Given the description of an element on the screen output the (x, y) to click on. 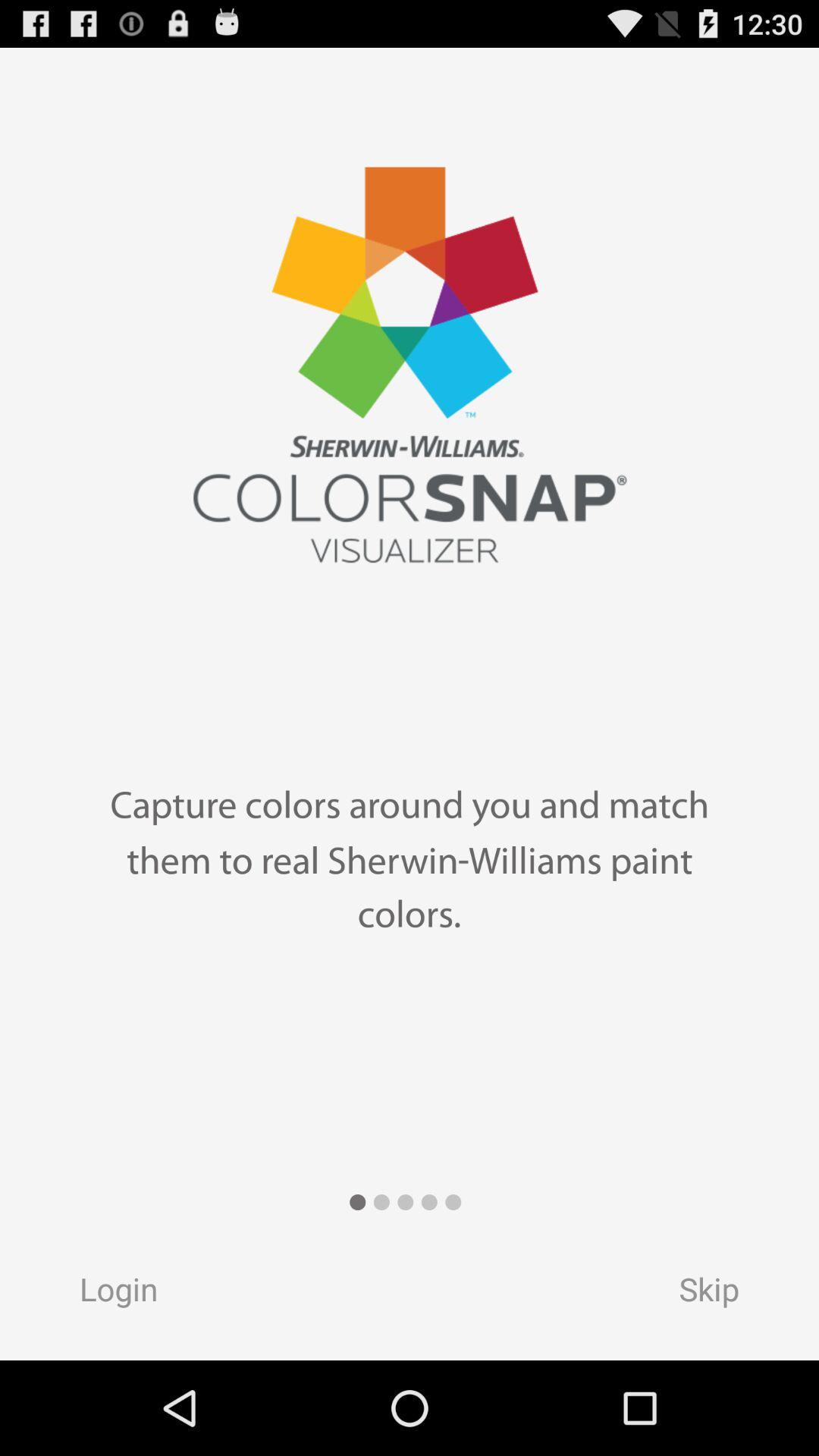
press the icon at the bottom right corner (724, 1293)
